Given the description of an element on the screen output the (x, y) to click on. 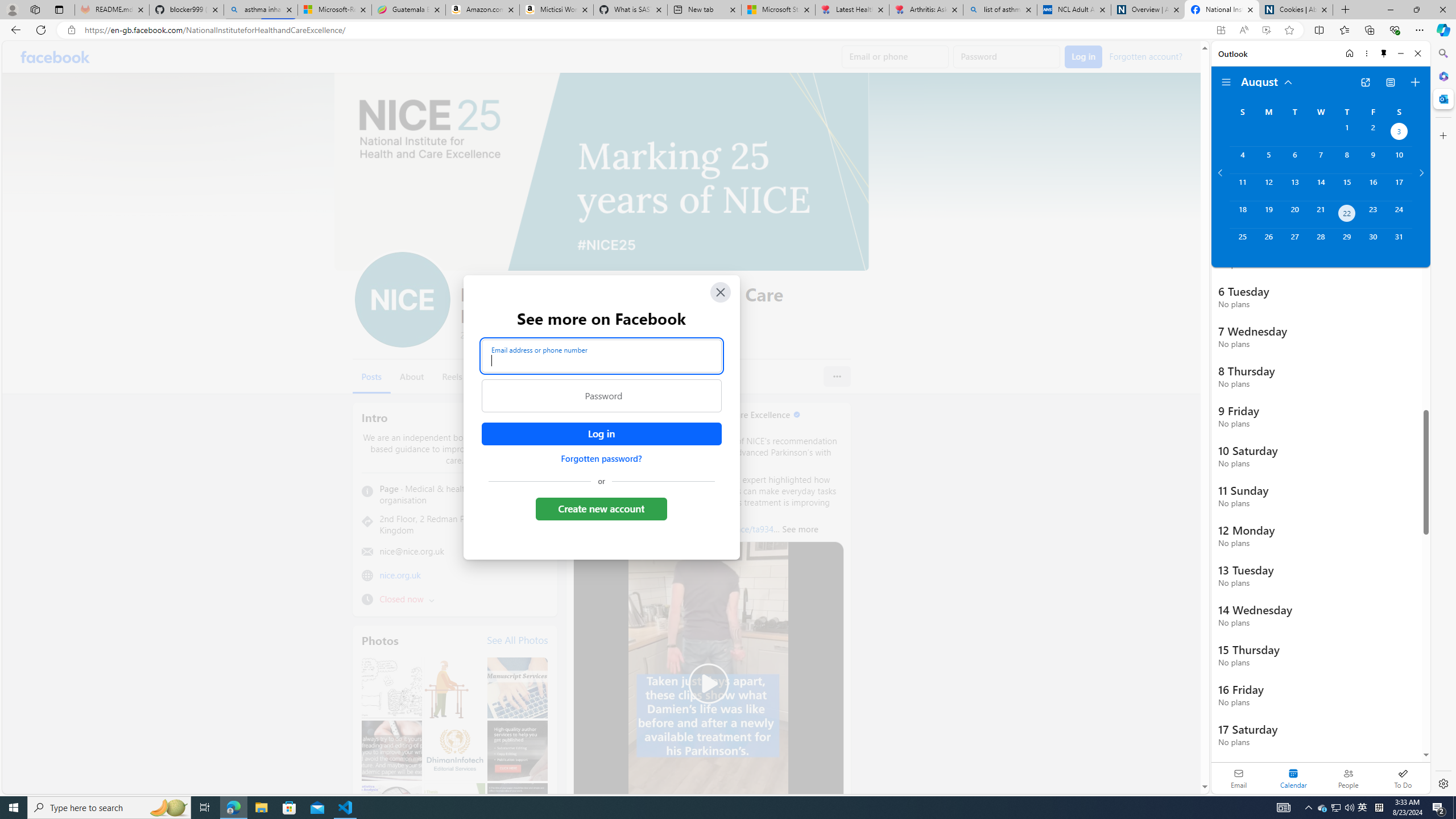
Thursday, August 29, 2024.  (1346, 241)
Tuesday, August 6, 2024.  (1294, 159)
Enhance video (1266, 29)
Friday, August 23, 2024.  (1372, 214)
Friday, August 30, 2024.  (1372, 241)
Wednesday, August 14, 2024.  (1320, 186)
Thursday, August 15, 2024.  (1346, 186)
Email (1238, 777)
